Given the description of an element on the screen output the (x, y) to click on. 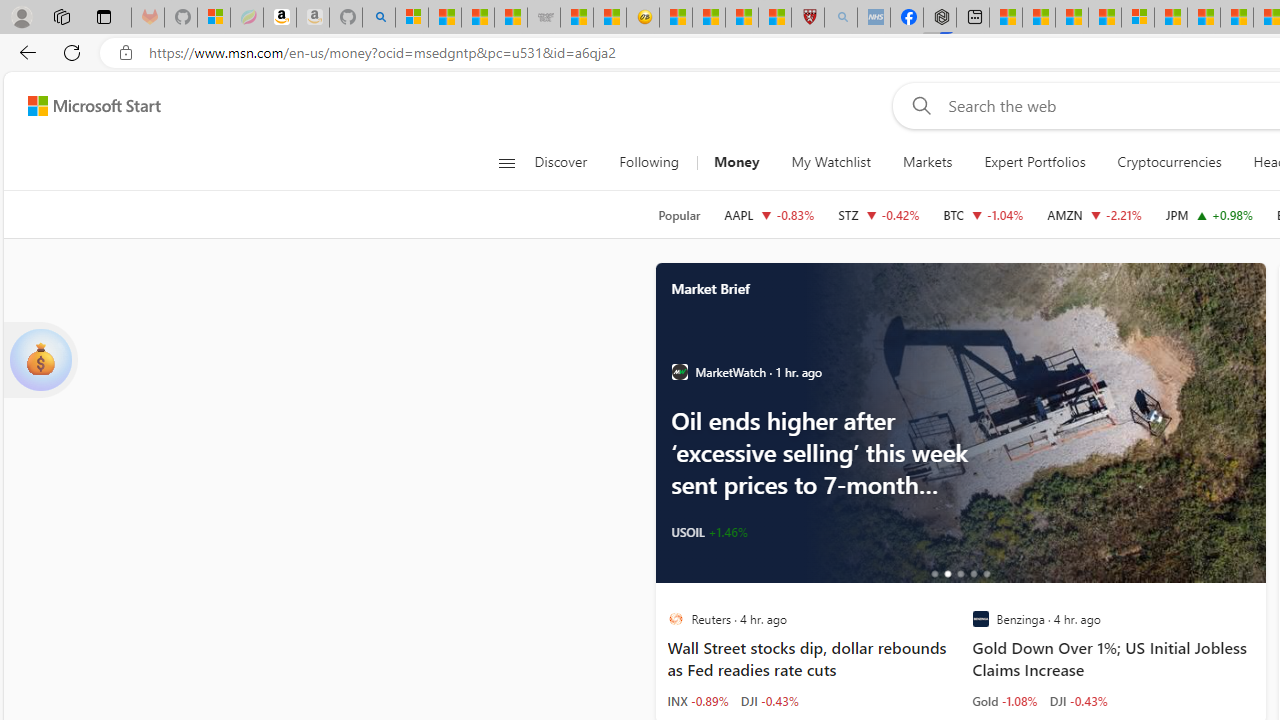
BTC Bitcoin decrease 60,607.86 -629.74 -1.04% (982, 214)
12 Popular Science Lies that Must be Corrected (775, 17)
Web search (917, 105)
Nordace - Nordace Siena Is Not An Ordinary Backpack (940, 17)
NCL Adult Asthma Inhaler Choice Guideline - Sleeping (873, 17)
Microsoft-Report a Concern to Bing (214, 17)
Popular (679, 215)
My Watchlist (830, 162)
